Given the description of an element on the screen output the (x, y) to click on. 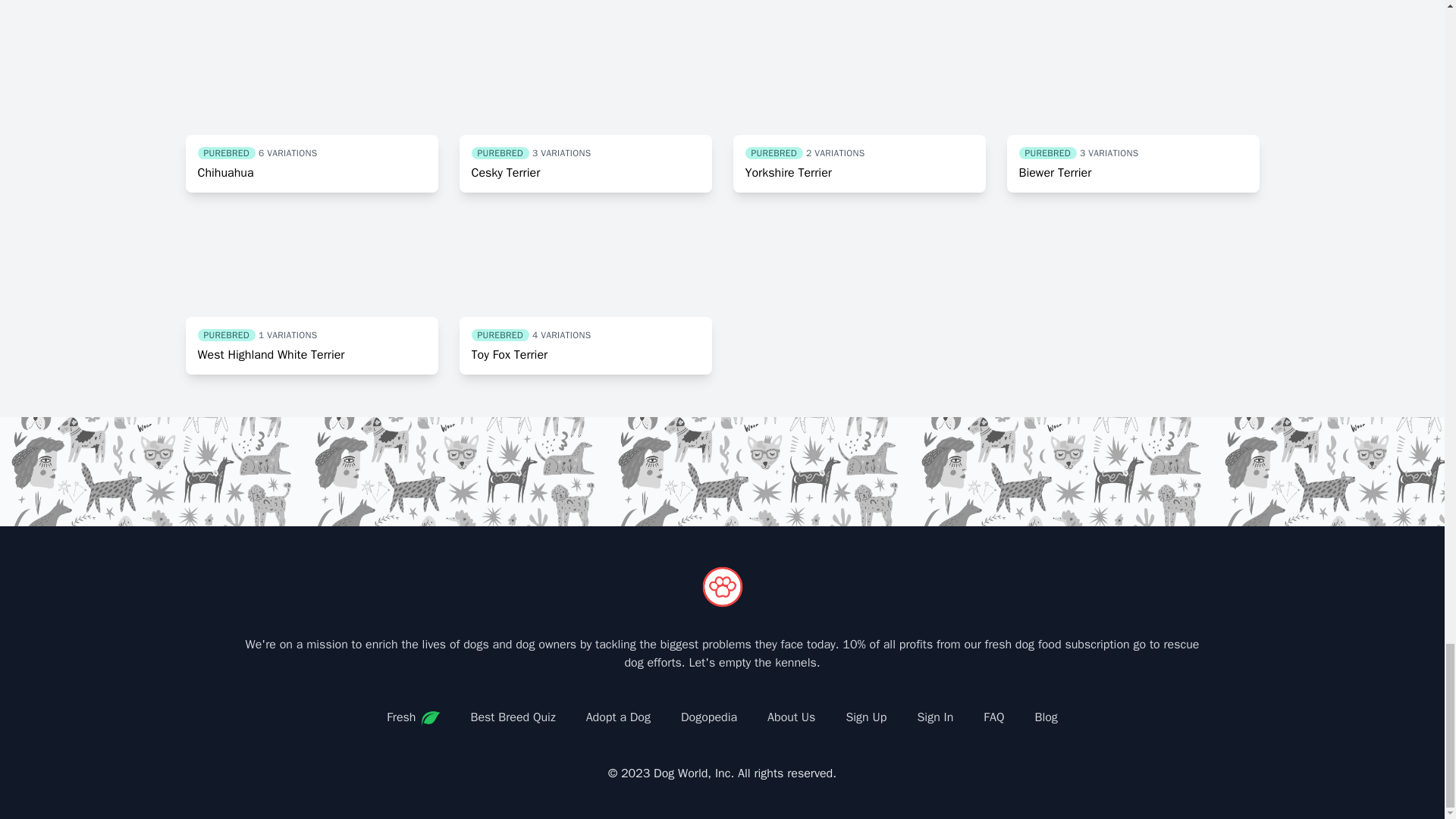
About Us (791, 716)
Fresh (412, 717)
Sign Up (865, 716)
Blog (311, 291)
Adopt a Dog (858, 108)
Dogopedia (1045, 716)
FAQ (617, 716)
Sign In (708, 716)
Best Breed Quiz (1133, 108)
